Given the description of an element on the screen output the (x, y) to click on. 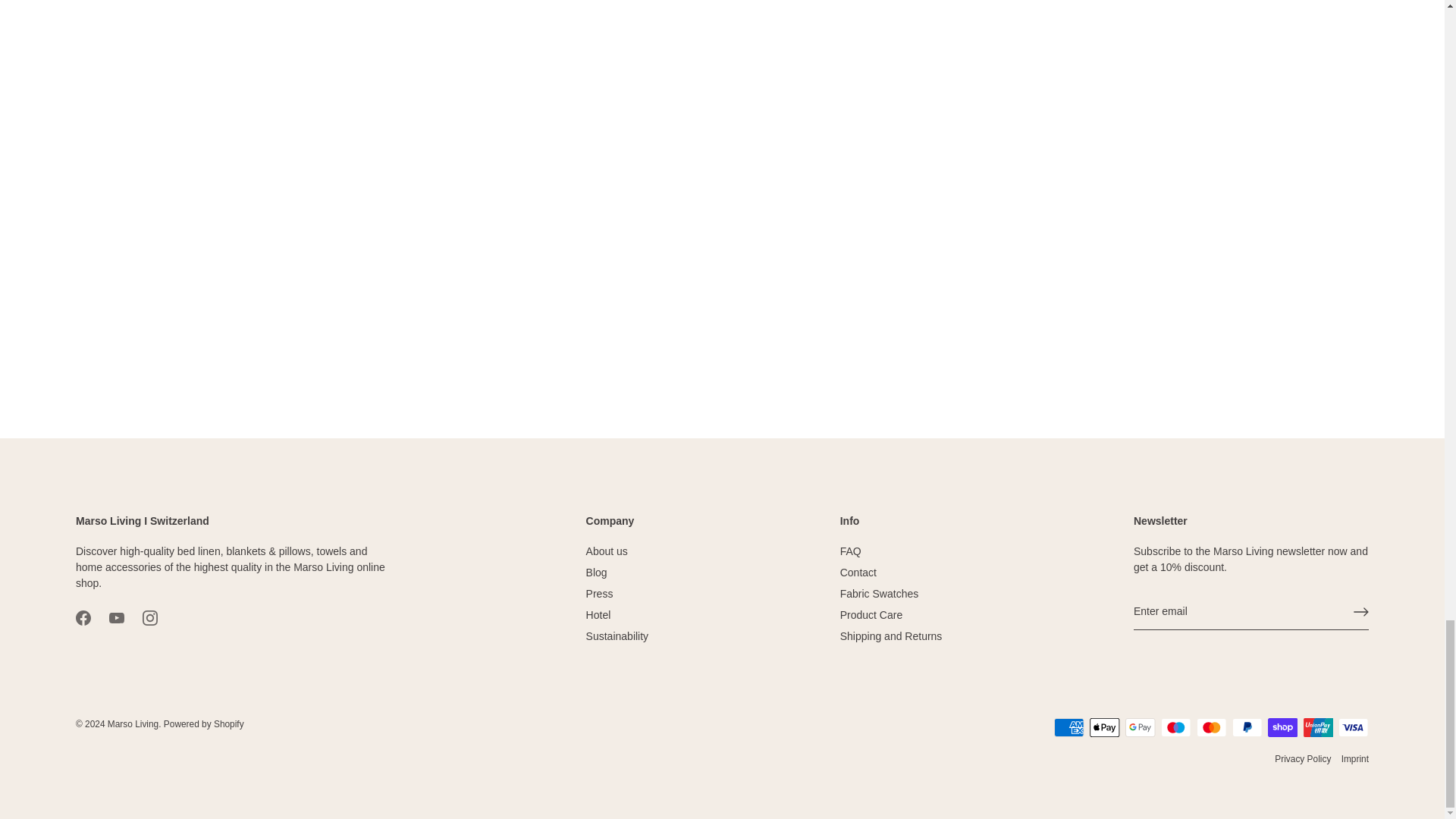
Maestro (1175, 727)
Apple Pay (1104, 727)
PayPal (1246, 727)
RIGHT ARROW LONG (1361, 611)
Union Pay (1318, 727)
Mastercard (1210, 727)
Shop Pay (1282, 727)
Youtube (116, 617)
Google Pay (1140, 727)
Instagram (149, 617)
